Given the description of an element on the screen output the (x, y) to click on. 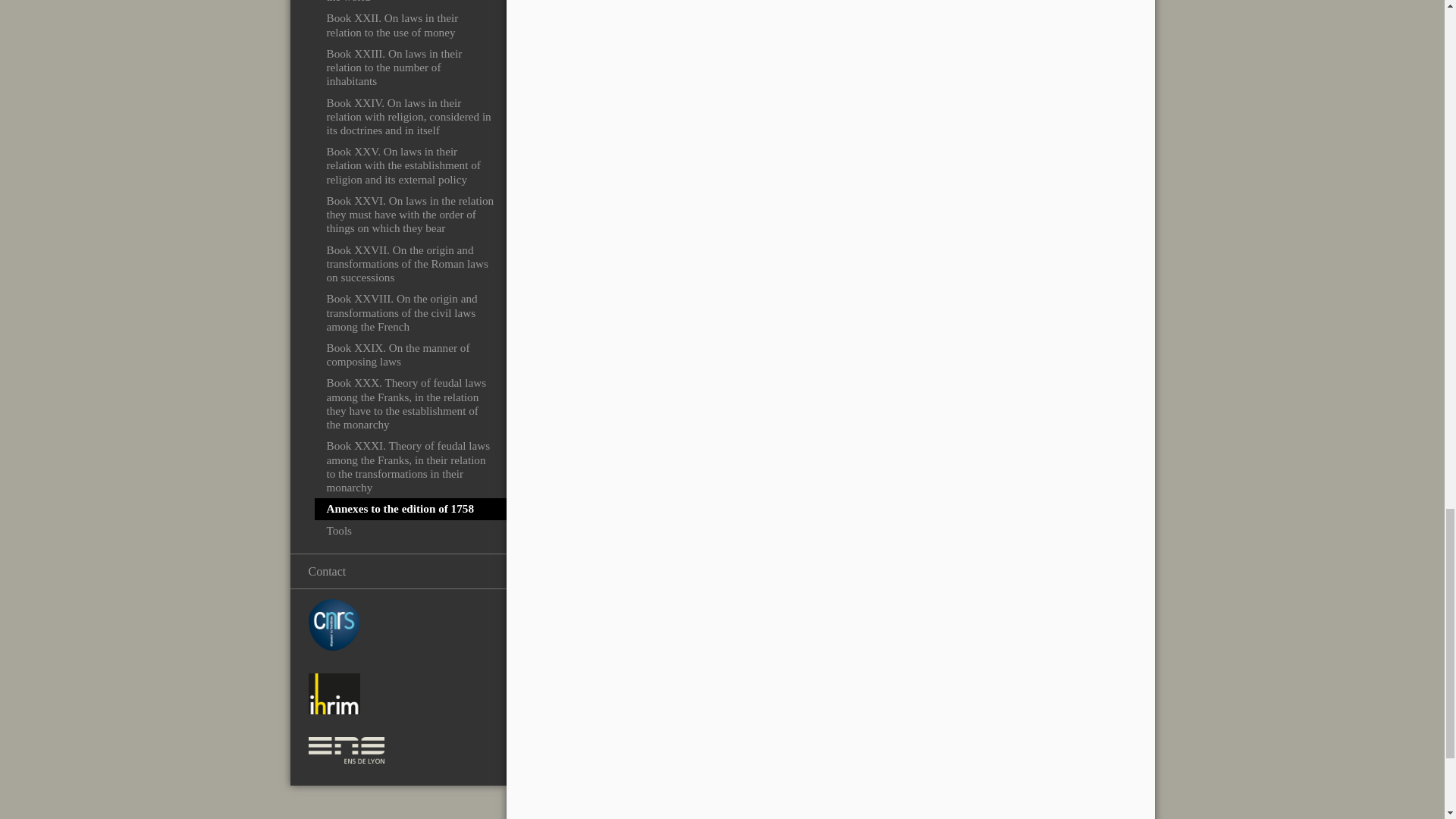
ENS de Lyon (345, 750)
CNRS (333, 624)
UMR 5317 (333, 693)
